Given the description of an element on the screen output the (x, y) to click on. 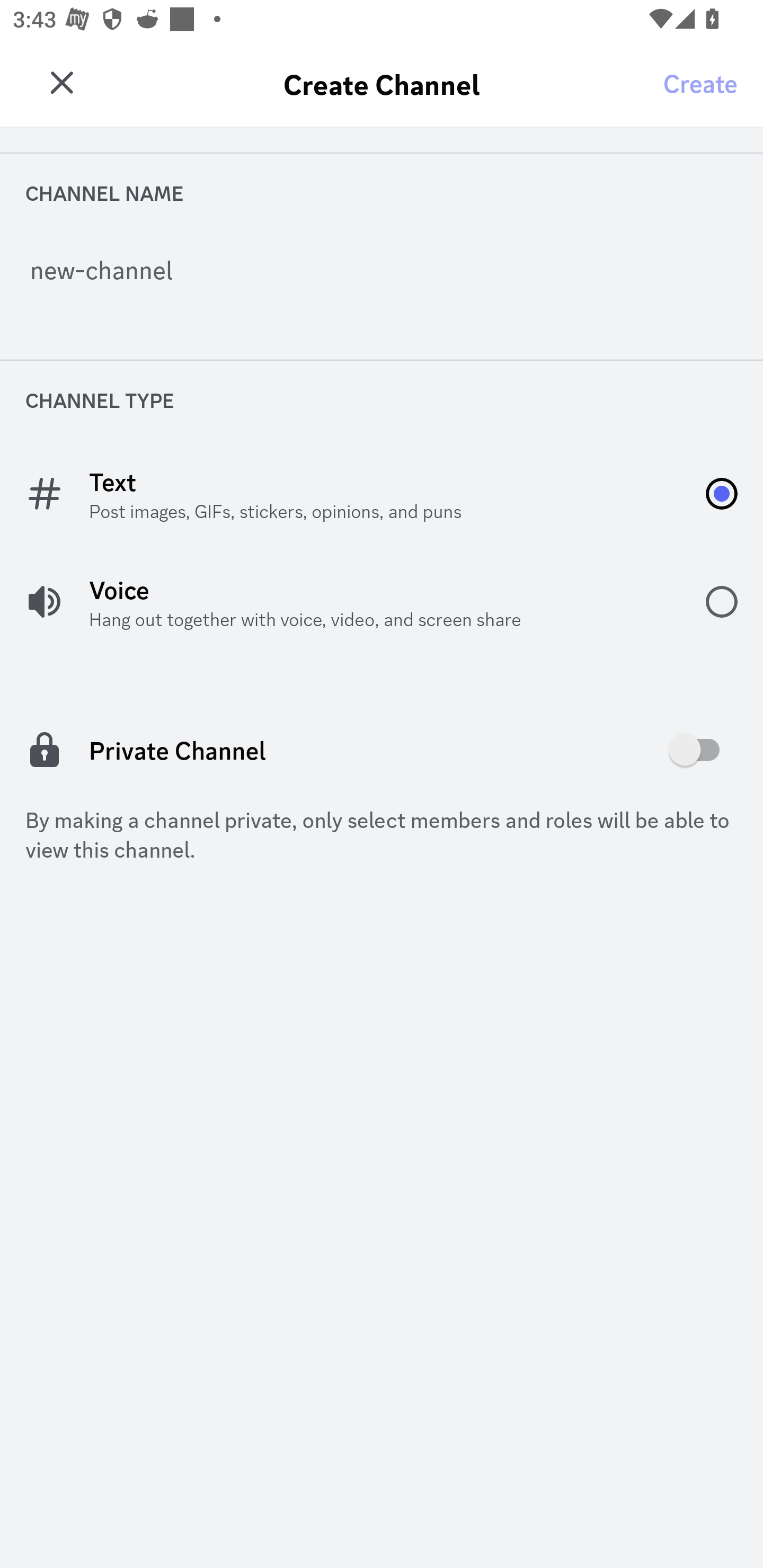
  Study Group SG (66, 75)
Create (700, 82)
new-channel Channel Name (381, 282)
off Private Channel Private Channel (381, 749)
